Given the description of an element on the screen output the (x, y) to click on. 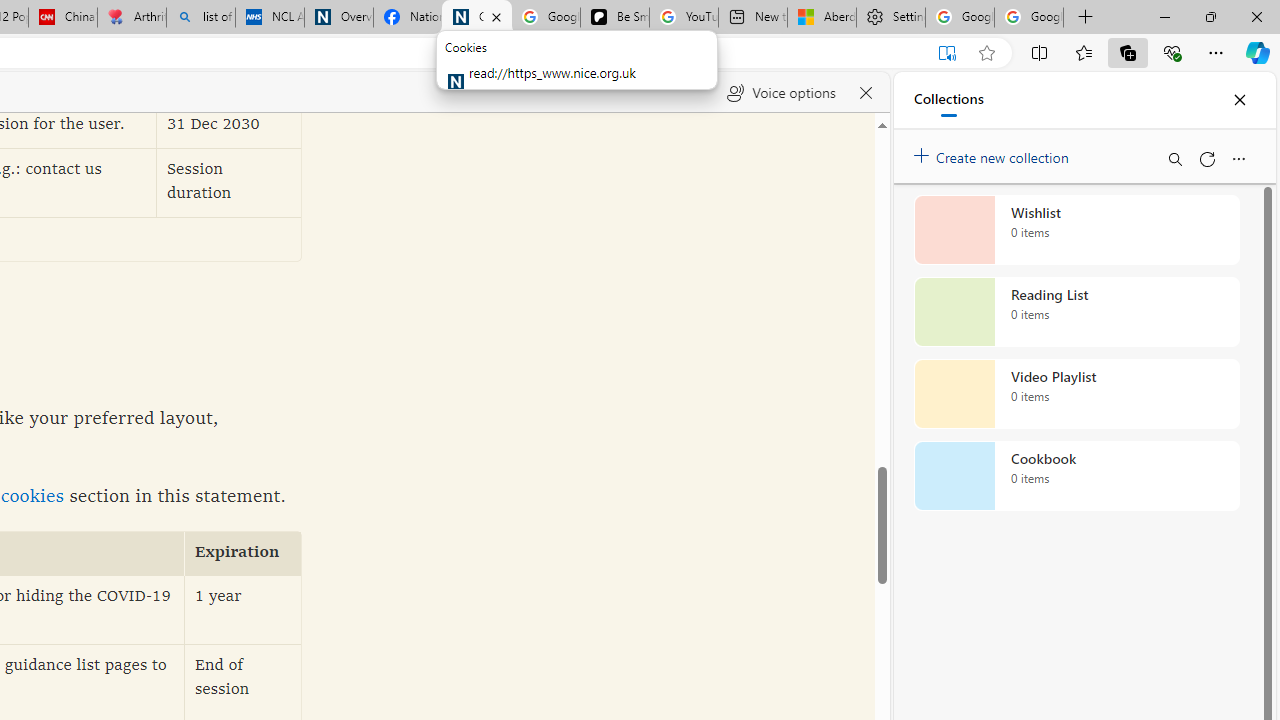
Video Playlist collection, 0 items (1076, 394)
Be Smart | creating Science videos | Patreon (614, 17)
31 Dec 2030 (229, 125)
